Given the description of an element on the screen output the (x, y) to click on. 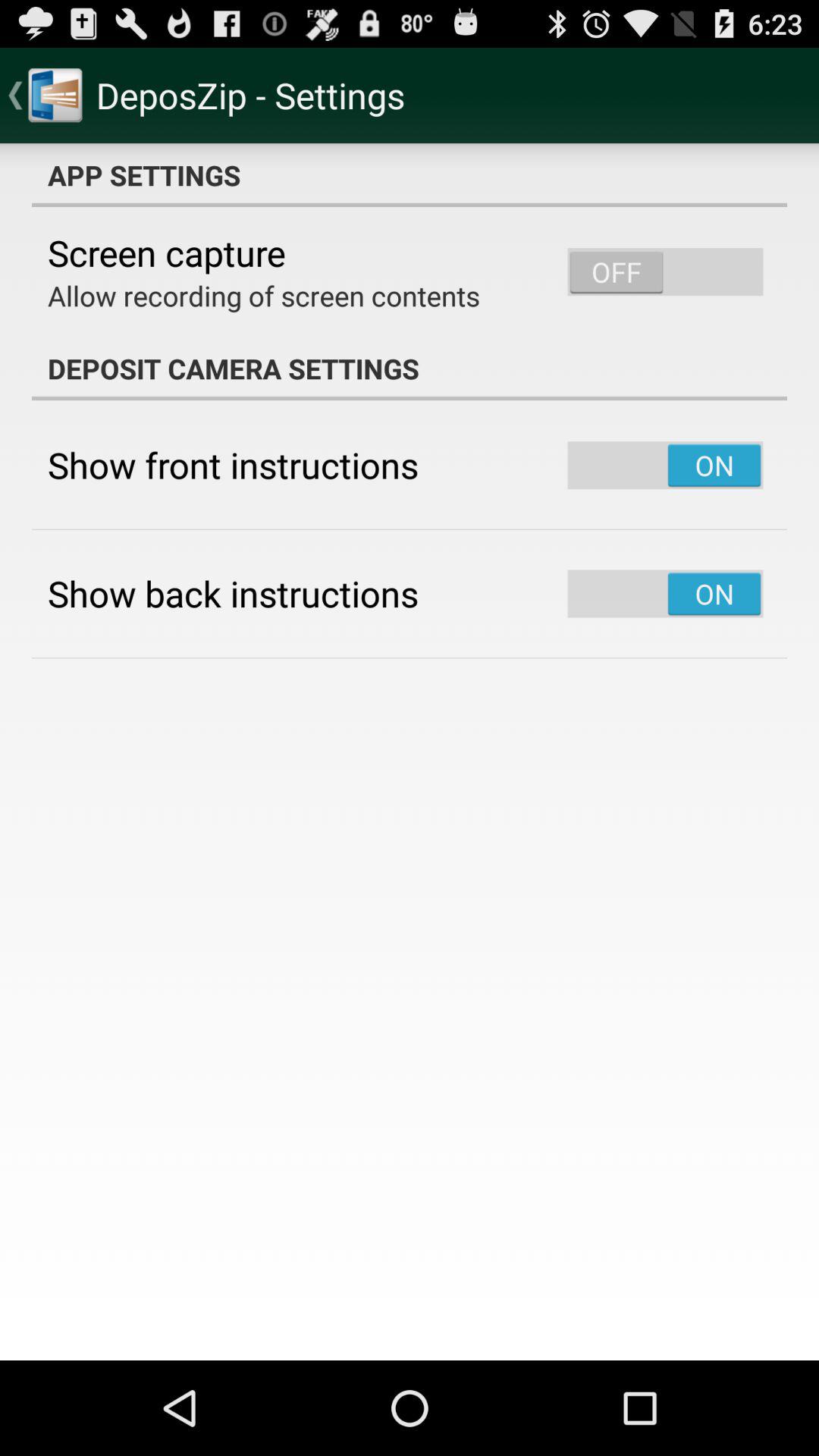
press the deposit camera settings (409, 368)
